Given the description of an element on the screen output the (x, y) to click on. 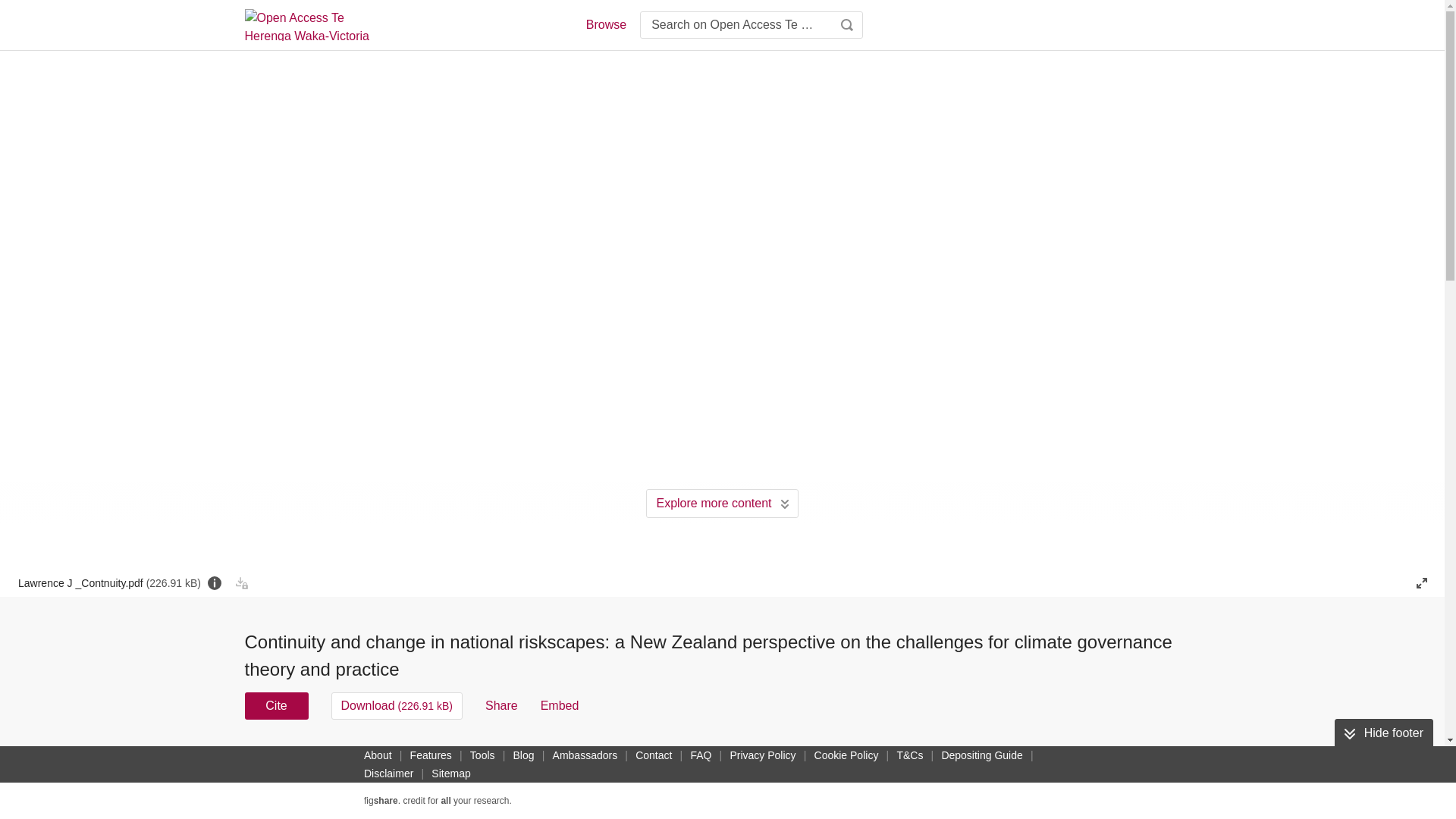
Browse (605, 24)
Tools (482, 755)
Privacy Policy (762, 755)
Hide footer (1383, 733)
About (377, 755)
Disclaimer (388, 773)
Ambassadors (585, 755)
Contact (653, 755)
Explore more content (721, 502)
Embed (559, 705)
Cookie Policy (846, 755)
Judith Lawrence (687, 755)
Cite (275, 705)
Share (501, 705)
Depositing Guide (981, 755)
